Given the description of an element on the screen output the (x, y) to click on. 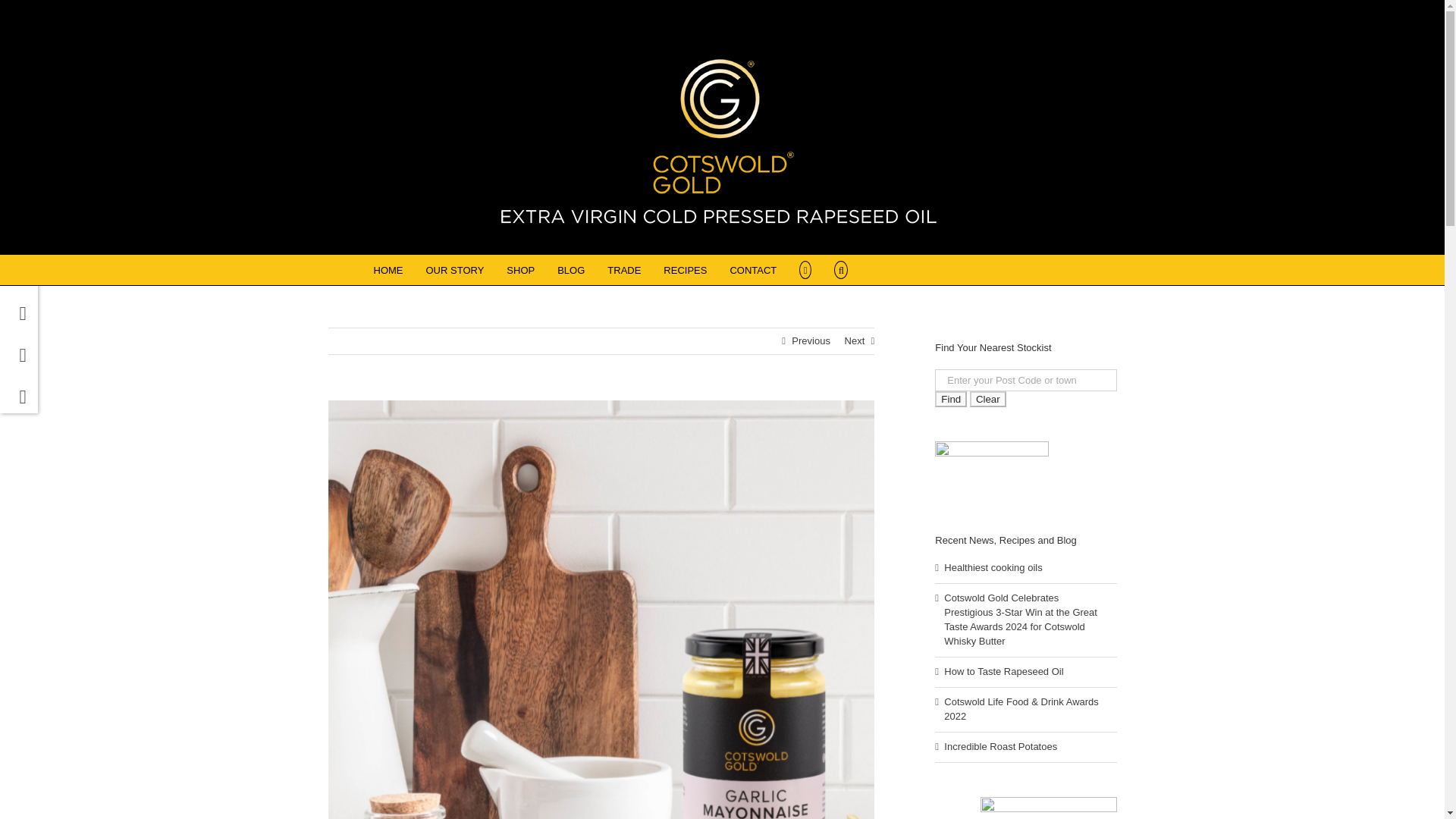
HOME (387, 269)
Enter your Post Code or town (1025, 380)
SHOP (520, 269)
CONTACT (752, 269)
Previous (810, 340)
RECIPES (684, 269)
OUR STORY (455, 269)
BLOG (571, 269)
Find (950, 399)
